Given the description of an element on the screen output the (x, y) to click on. 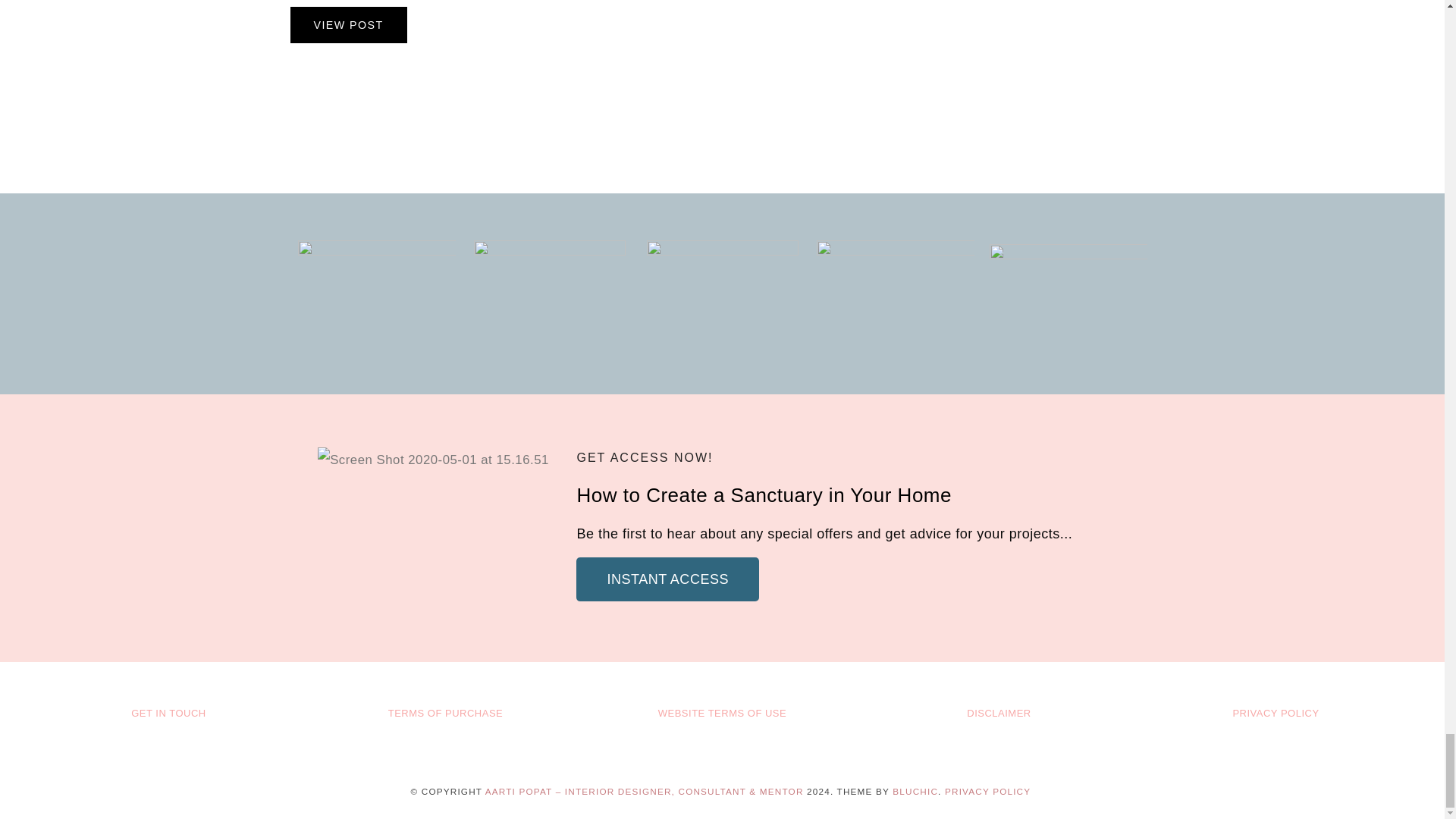
INSTANT ACCESS (667, 579)
BLUCHIC (914, 791)
PRIVACY POLICY (987, 791)
TERMS OF PURCHASE (445, 713)
PRIVACY POLICY (1275, 713)
WEBSITE TERMS OF USE (722, 713)
VIEW POST (347, 24)
Screen Shot 2020-05-01 at 15.16.51 (432, 460)
GET IN TOUCH (168, 713)
DISCLAIMER (999, 713)
